Given the description of an element on the screen output the (x, y) to click on. 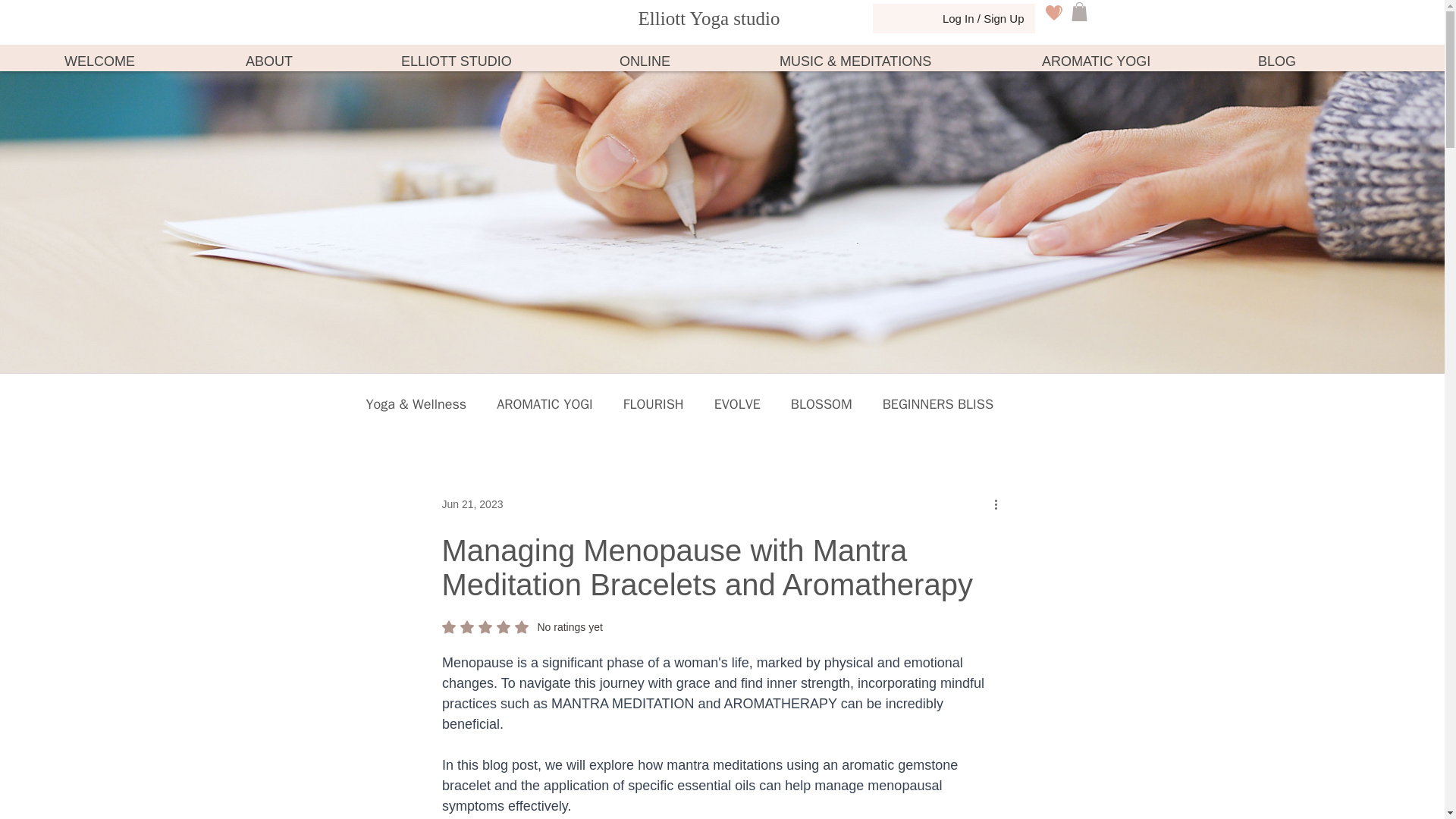
Jun 21, 2023 (471, 503)
BLOSSOM (820, 403)
Elliott Yoga studio (709, 17)
BLOG (1318, 61)
WELCOME (142, 61)
FLOURISH (653, 403)
AROMATIC YOGI (544, 403)
BEGINNERS BLISS (521, 626)
EVOLVE (937, 403)
